Given the description of an element on the screen output the (x, y) to click on. 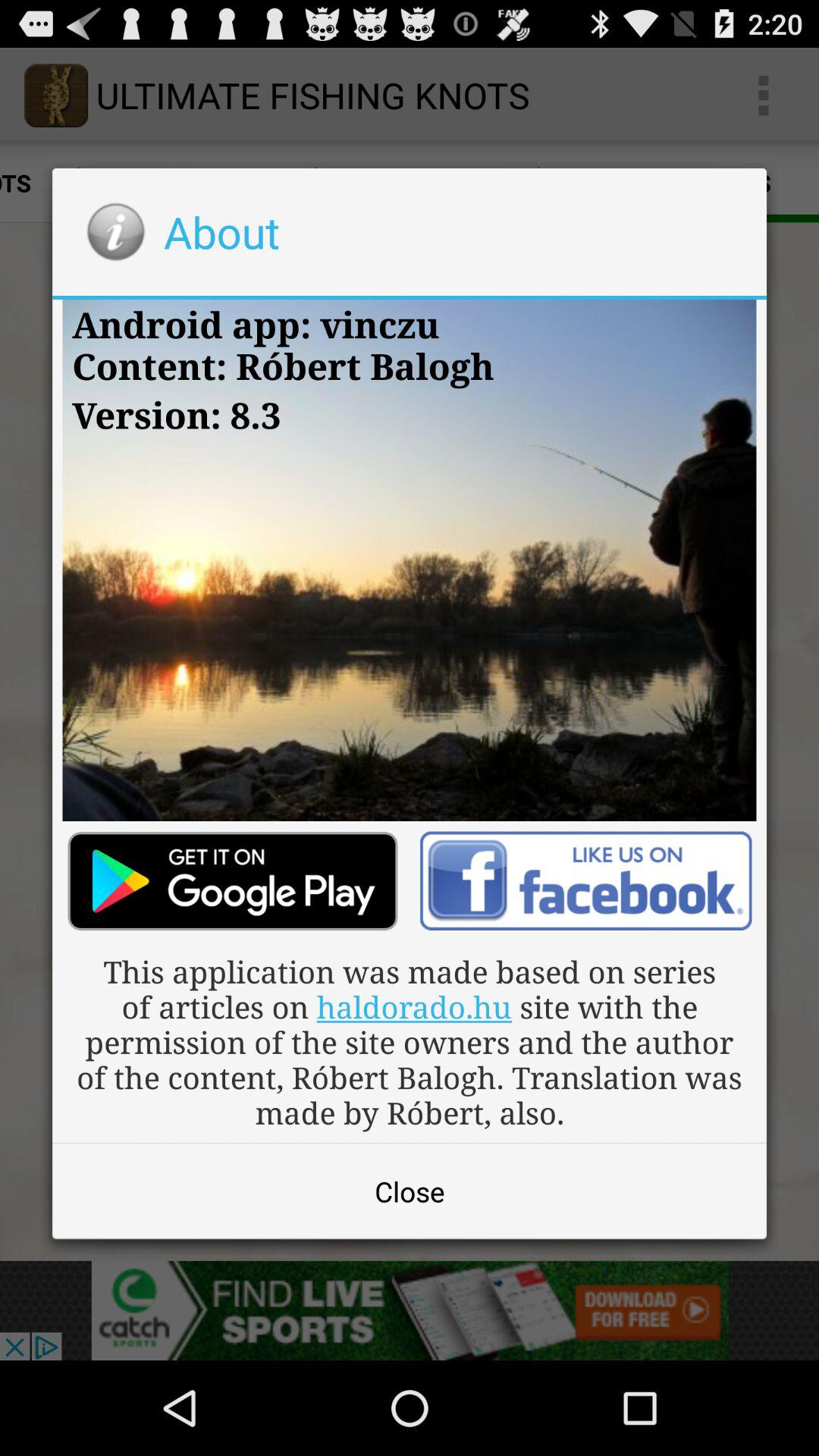
choose item above close (409, 1041)
